Given the description of an element on the screen output the (x, y) to click on. 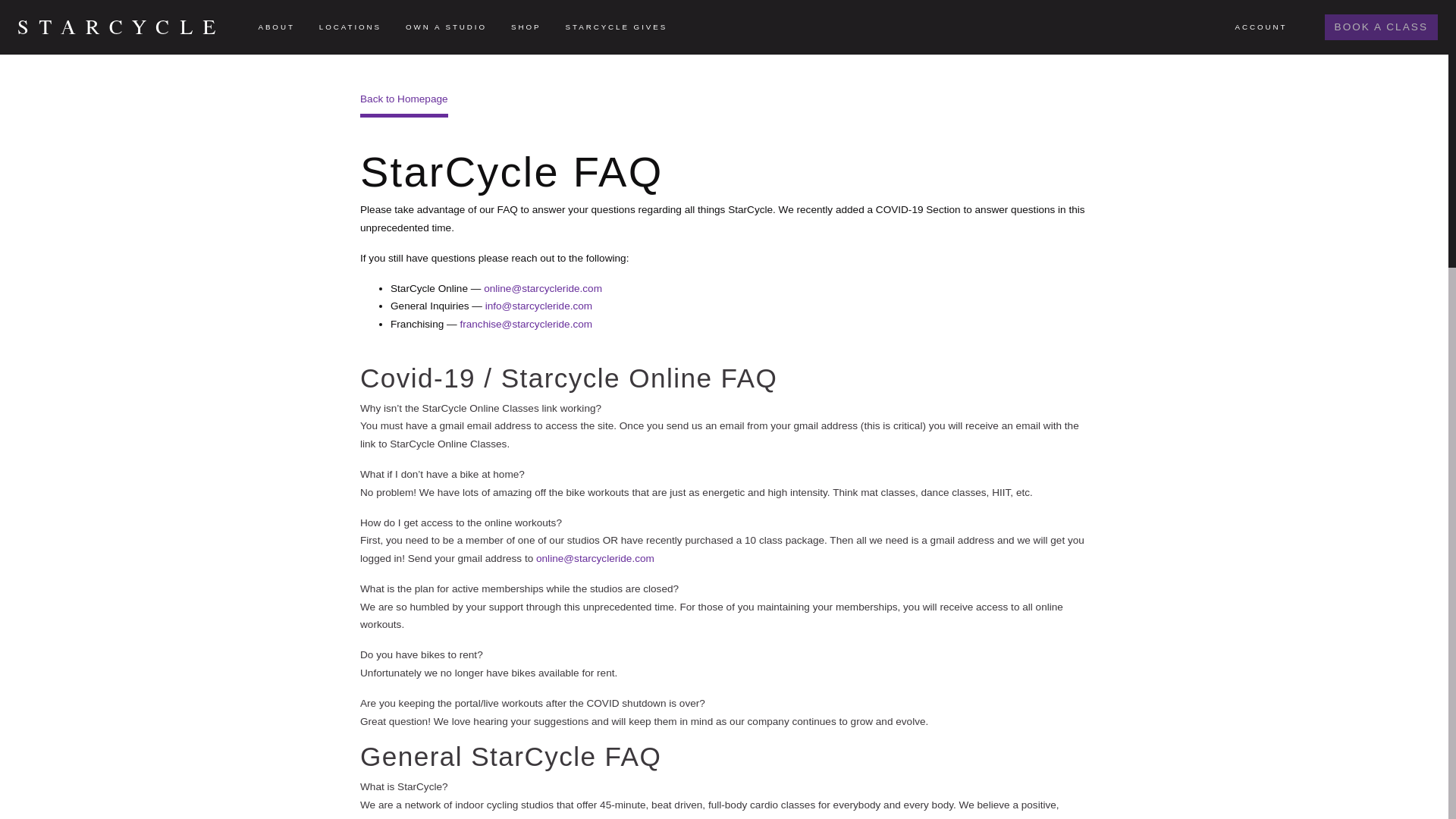
STARCYCLE GIVES (616, 27)
BOOK A CLASS (1381, 27)
OWN A STUDIO (445, 27)
ABOUT (275, 27)
SHOP (526, 27)
ACCOUNT (1272, 27)
LOCATIONS (350, 27)
